Given the description of an element on the screen output the (x, y) to click on. 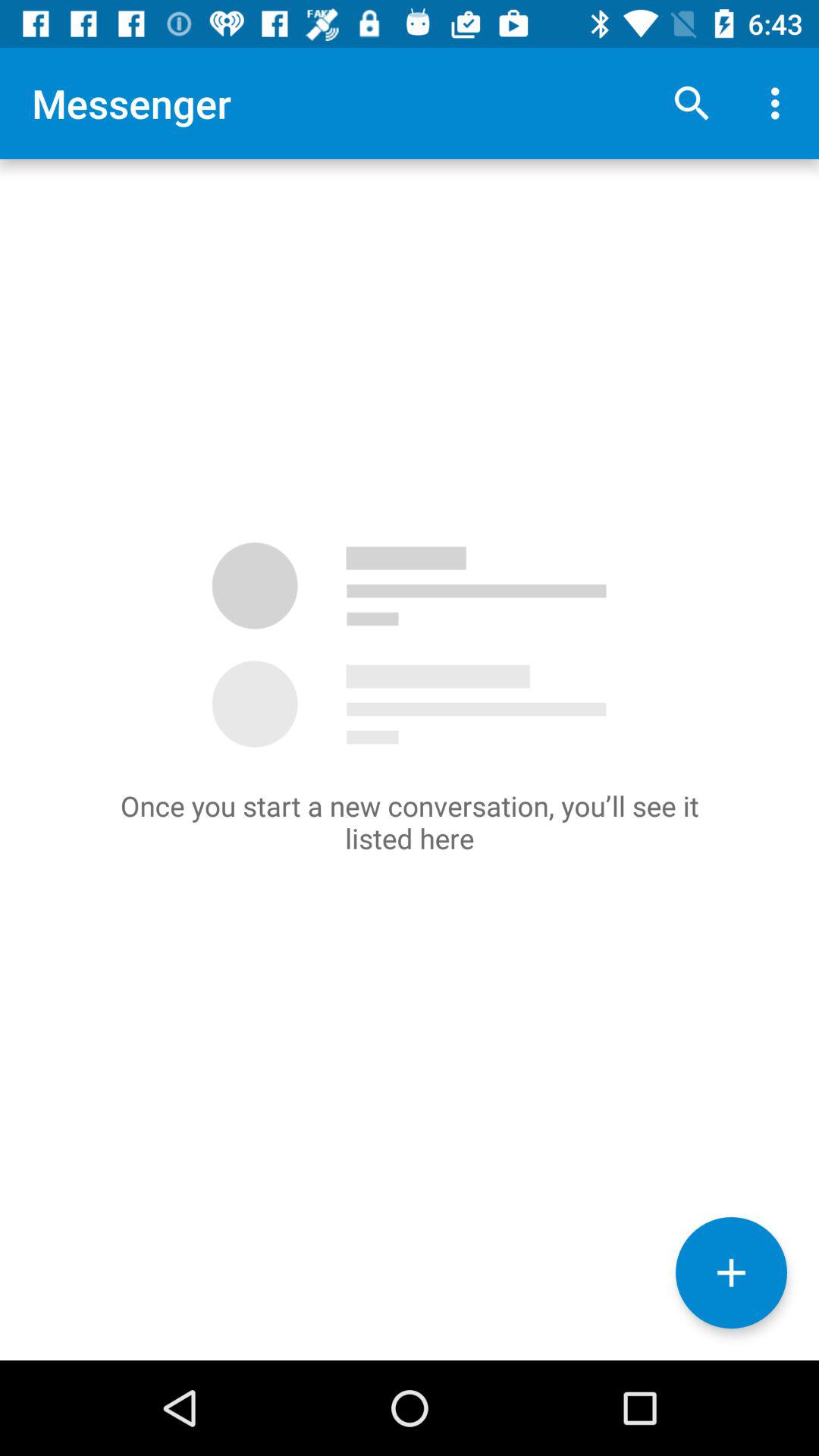
press app to the right of the messenger app (691, 103)
